Given the description of an element on the screen output the (x, y) to click on. 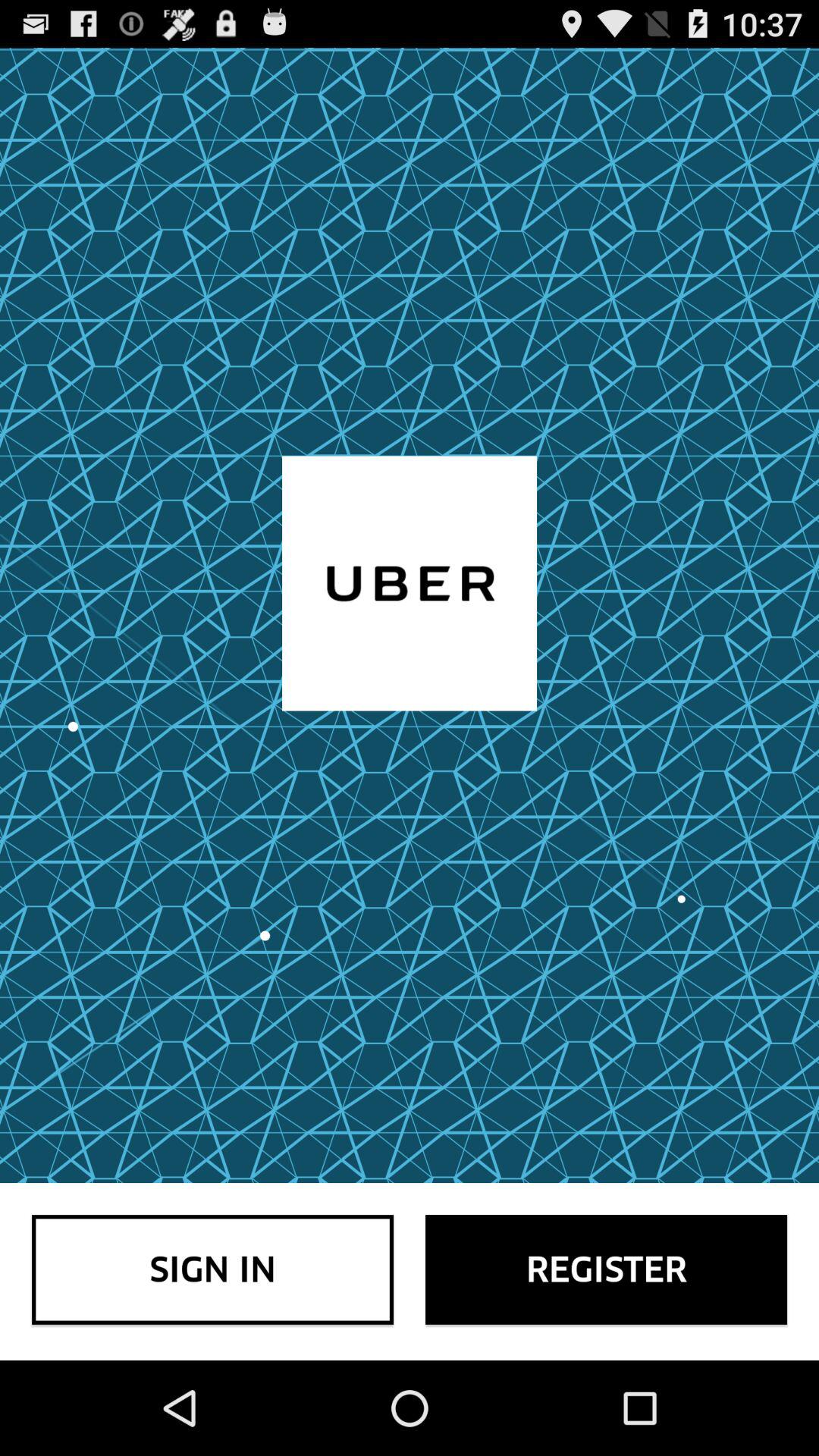
turn on the icon to the right of the sign in item (606, 1269)
